Given the description of an element on the screen output the (x, y) to click on. 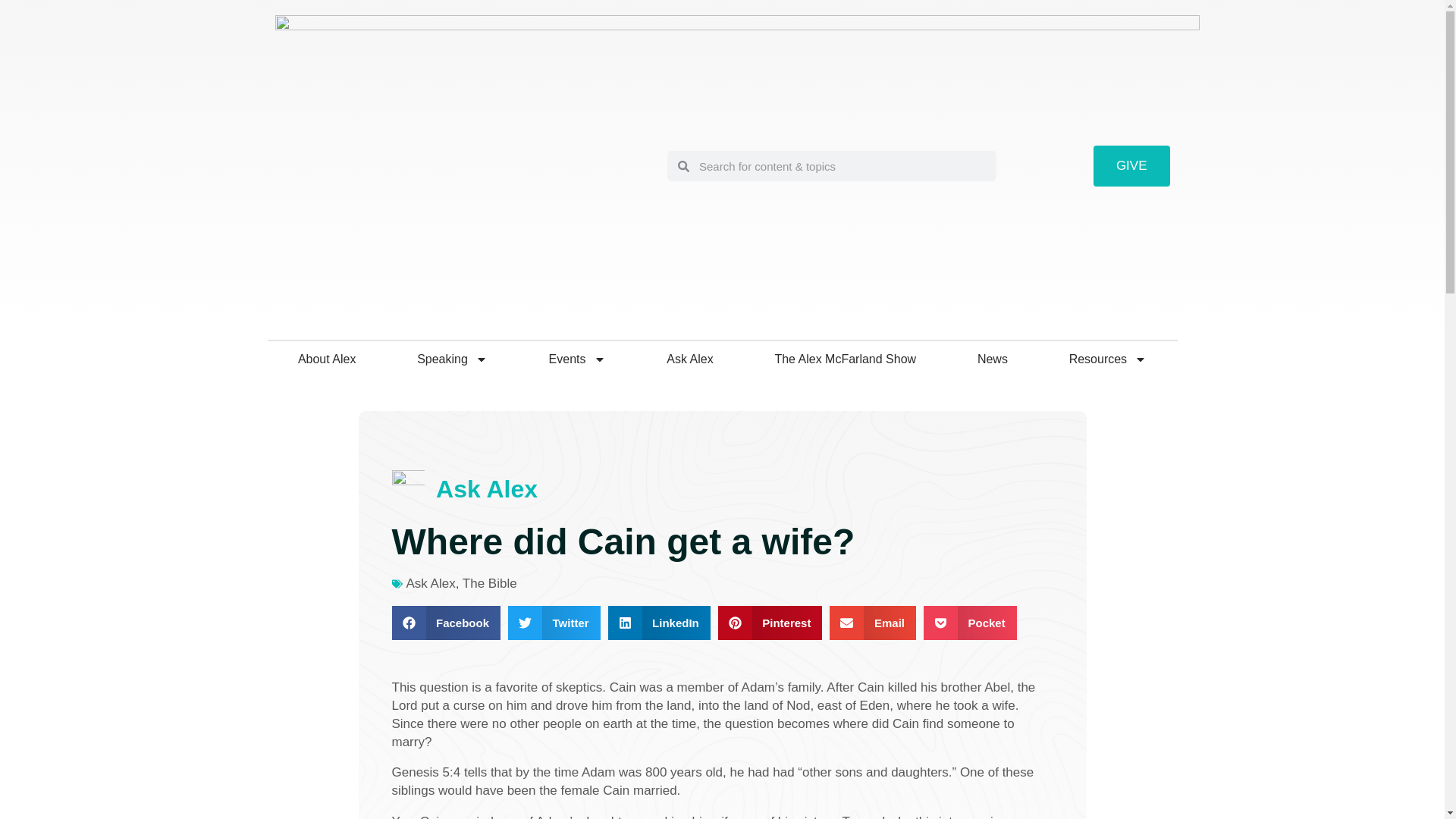
The Alex McFarland Show (845, 359)
Speaking (452, 359)
Ask Alex (690, 359)
News (992, 359)
About Alex (325, 359)
GIVE (1131, 165)
Resources (1107, 359)
Events (577, 359)
